Given the description of an element on the screen output the (x, y) to click on. 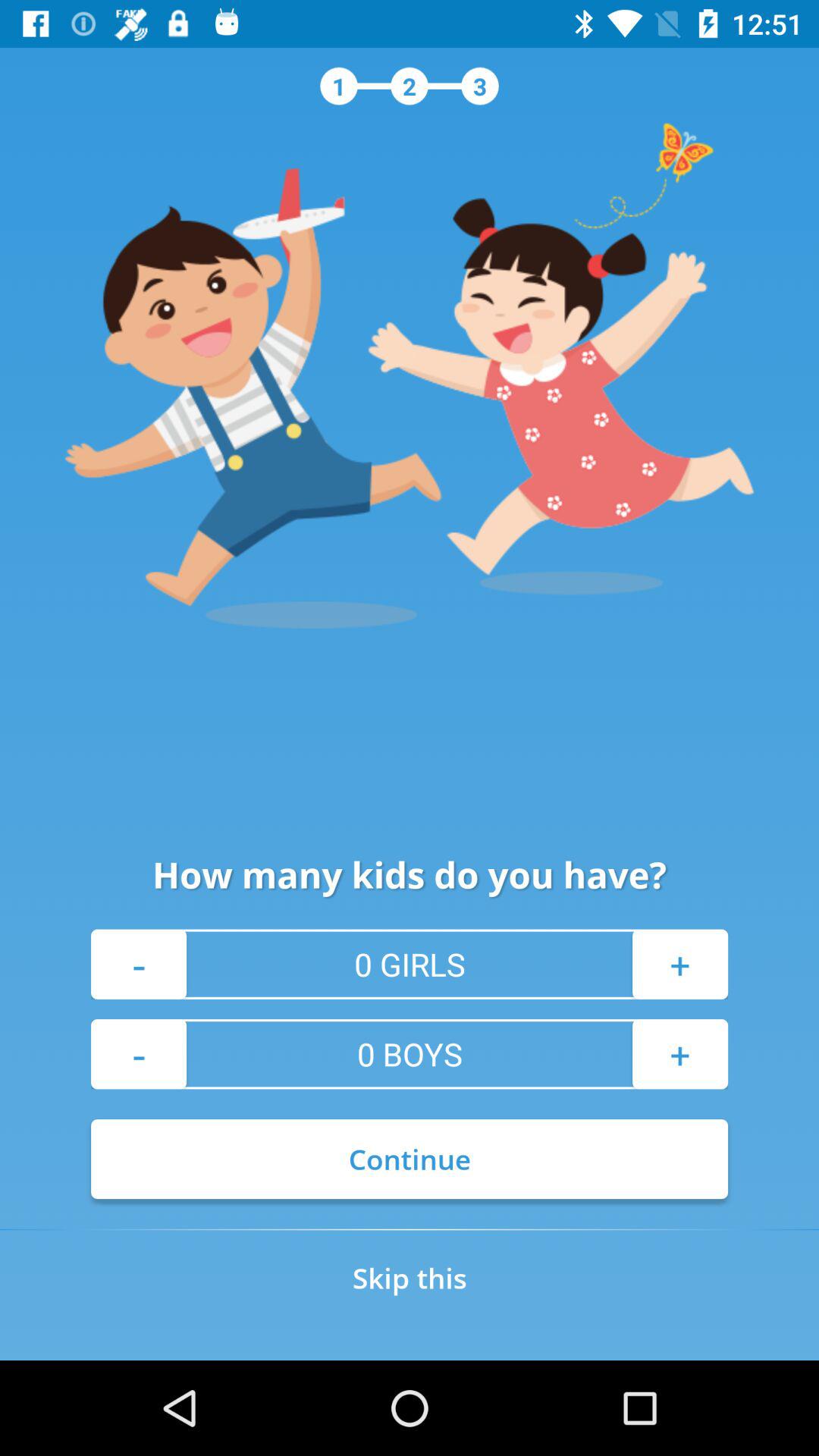
click the item above the continue icon (138, 1054)
